Given the description of an element on the screen output the (x, y) to click on. 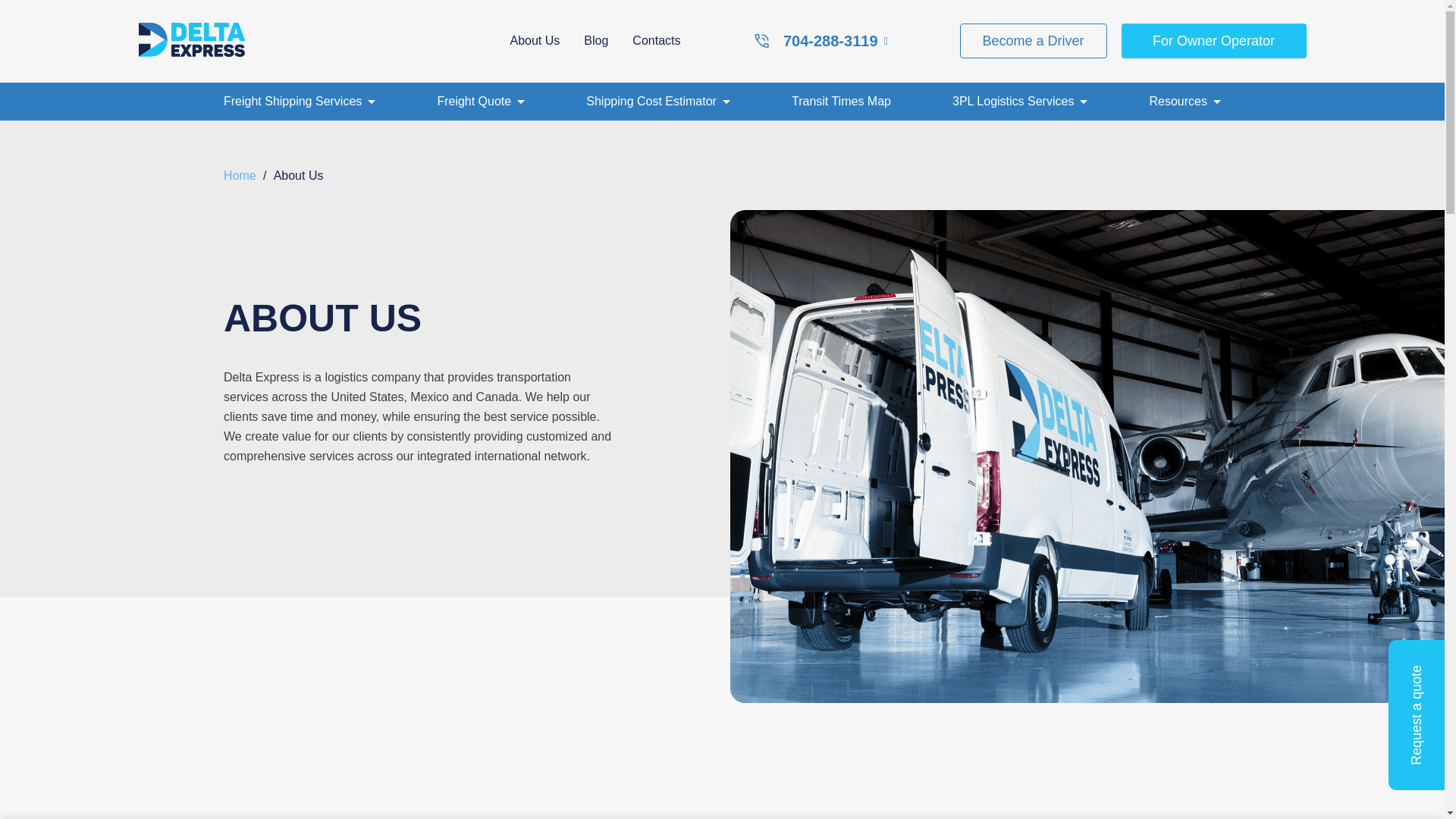
For Owner Operator (1213, 40)
Become a Driver (1032, 40)
704-288-3119 (820, 40)
Blog (595, 40)
Contacts (655, 40)
About Us (534, 40)
For Owner Operator (1213, 40)
Request a quote (720, 560)
Home (240, 174)
